Given the description of an element on the screen output the (x, y) to click on. 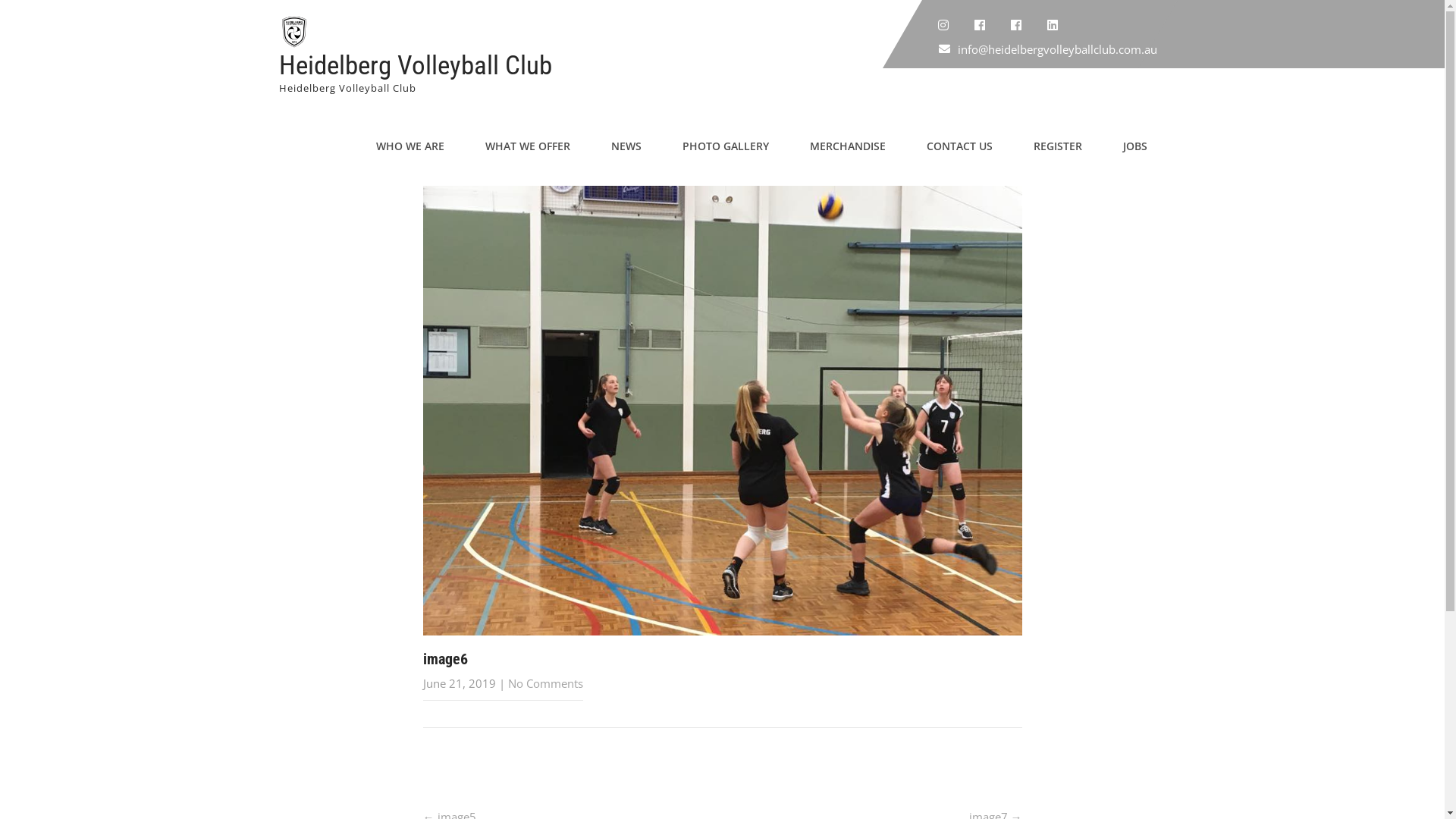
REGISTER Element type: text (1057, 146)
NEWS Element type: text (625, 146)
JOBS Element type: text (1135, 146)
fab fa-facebook Element type: hover (978, 24)
WHAT WE OFFER Element type: text (526, 146)
No Comments Element type: text (545, 682)
fab fa-facebook Element type: hover (1015, 24)
WHO WE ARE Element type: text (409, 146)
info@heidelbergvolleyballclub.com.au Element type: text (1057, 48)
MERCHANDISE Element type: text (846, 146)
fab fa-instagram Element type: hover (942, 24)
PHOTO GALLERY Element type: text (724, 146)
CONTACT US Element type: text (958, 146)
Heidelberg Volleyball Club Element type: text (415, 65)
fab fa-linkedin Element type: hover (1051, 24)
